Given the description of an element on the screen output the (x, y) to click on. 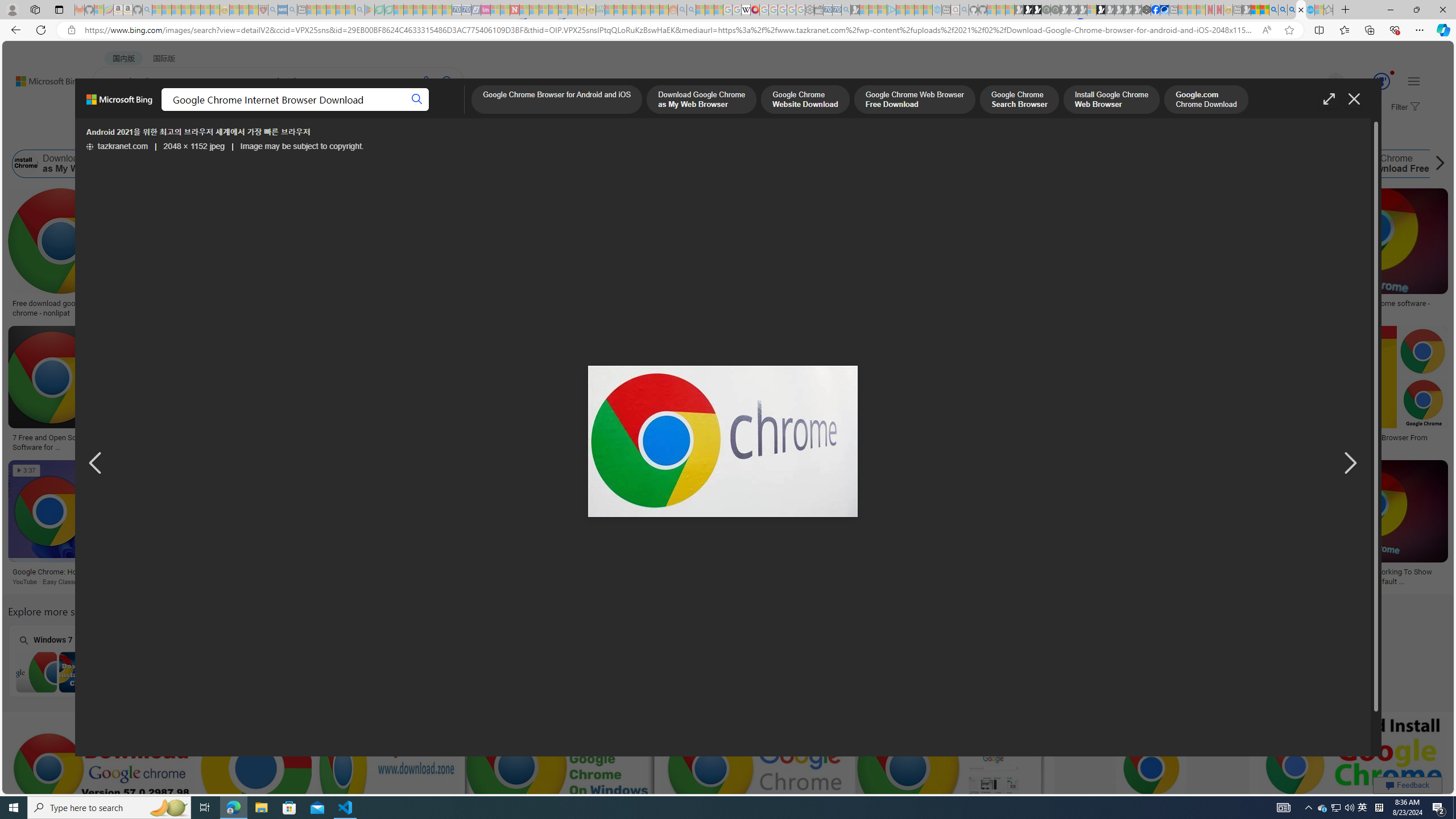
Eugene (1319, 81)
Color (173, 135)
Internet Explorer (224, 660)
MORE (451, 111)
Download Google Chrome As My Web Browser (272, 571)
Type (212, 135)
Microsoft Rewards 84 (1370, 81)
